Given the description of an element on the screen output the (x, y) to click on. 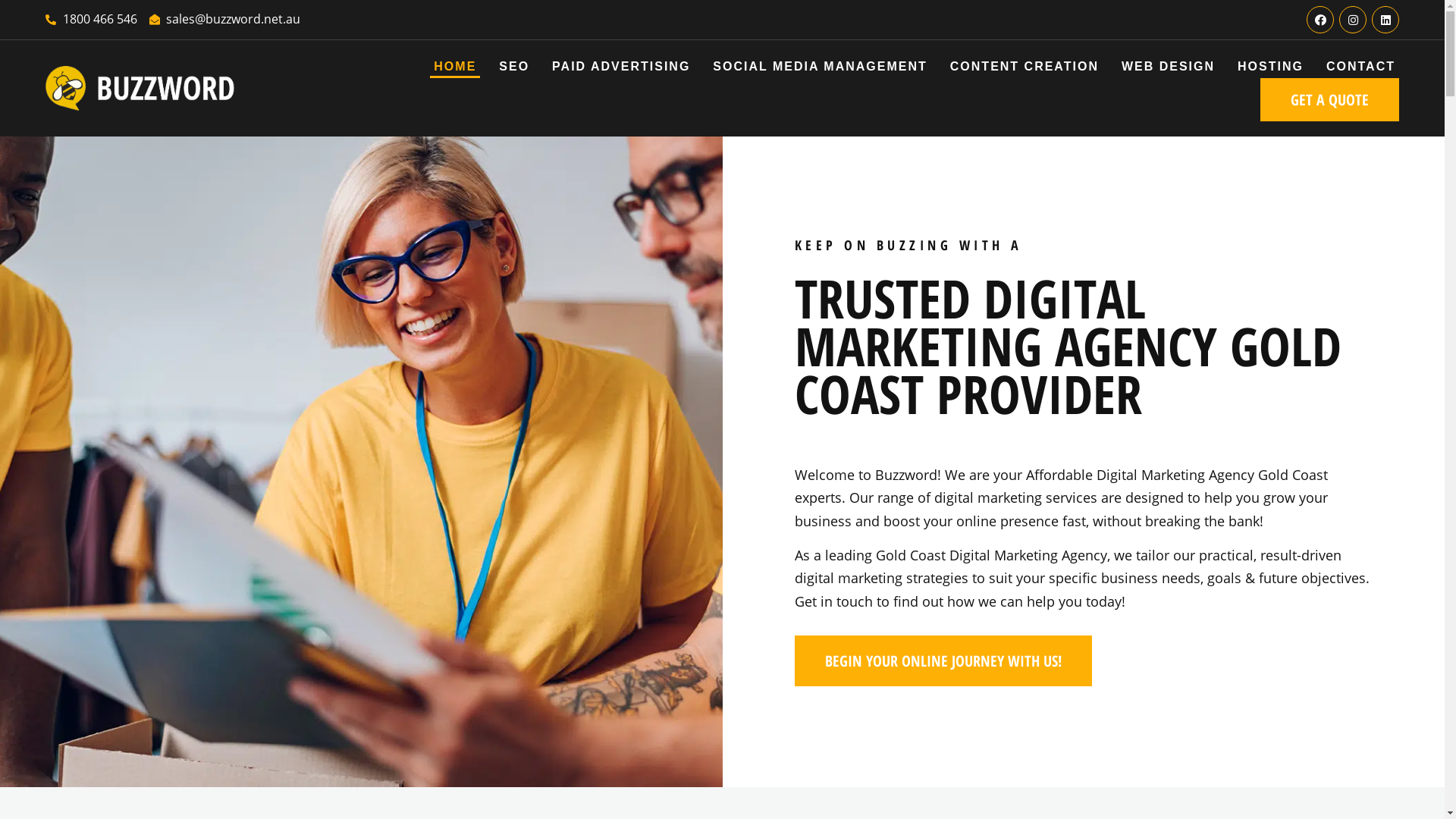
1800 466 546 Element type: text (91, 19)
GET A QUOTE Element type: text (1329, 99)
sales@buzzword.net.au Element type: text (224, 19)
SEO Element type: text (514, 66)
WEB DESIGN Element type: text (1167, 66)
HOSTING Element type: text (1270, 66)
HOME Element type: text (454, 66)
BEGIN YOUR ONLINE JOURNEY WITH US! Element type: text (943, 660)
CONTENT CREATION Element type: text (1024, 66)
PAID ADVERTISING Element type: text (620, 66)
CONTACT Element type: text (1360, 66)
SOCIAL MEDIA MANAGEMENT Element type: text (819, 66)
